Given the description of an element on the screen output the (x, y) to click on. 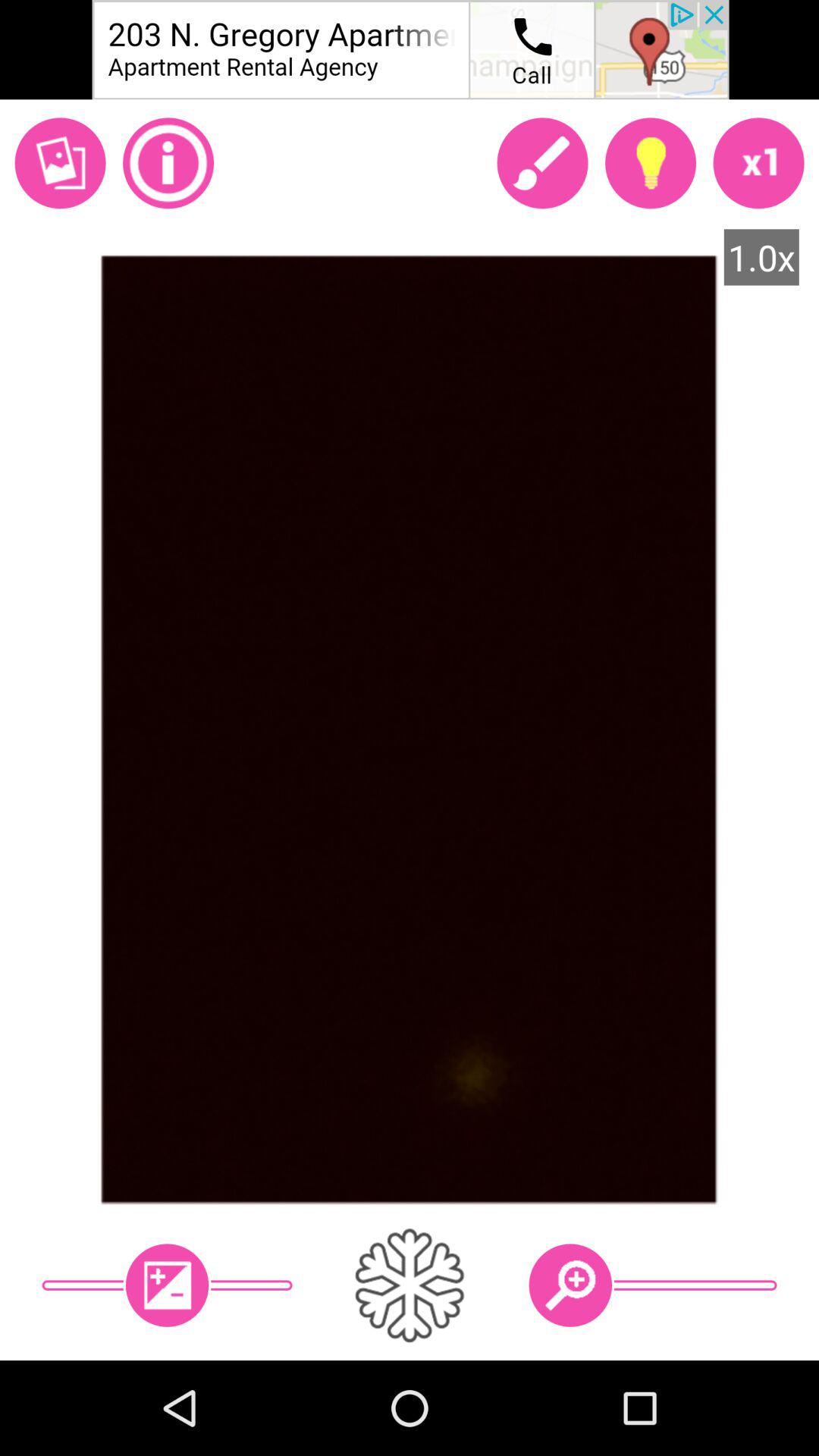
advert (409, 49)
